Given the description of an element on the screen output the (x, y) to click on. 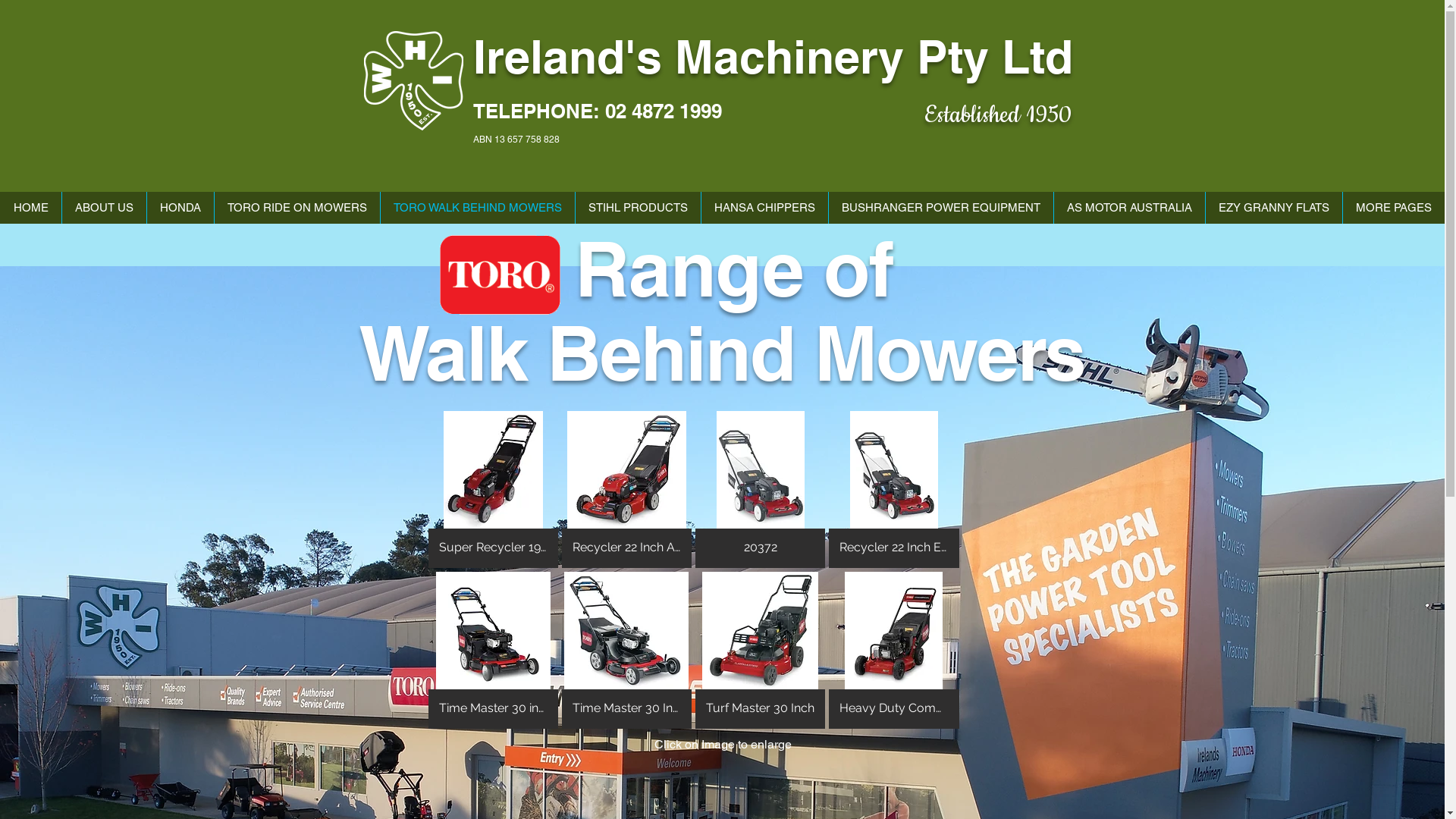
Ireland's Machinery Pty Ltd Element type: text (773, 56)
HANSA CHIPPERS Element type: text (764, 207)
ABOUT US Element type: text (103, 207)
EZY GRANNY FLATS Element type: text (1273, 207)
TORO WALK BEHIND MOWERS Element type: text (476, 207)
BUSHRANGER POWER EQUIPMENT Element type: text (940, 207)
HOME Element type: text (30, 207)
STIHL PRODUCTS Element type: text (637, 207)
TORO RIDE ON MOWERS Element type: text (296, 207)
AS MOTOR AUSTRALIA Element type: text (1128, 207)
HONDA Element type: text (179, 207)
Irelands Logo REVERSE.png Element type: hover (413, 80)
